Given the description of an element on the screen output the (x, y) to click on. 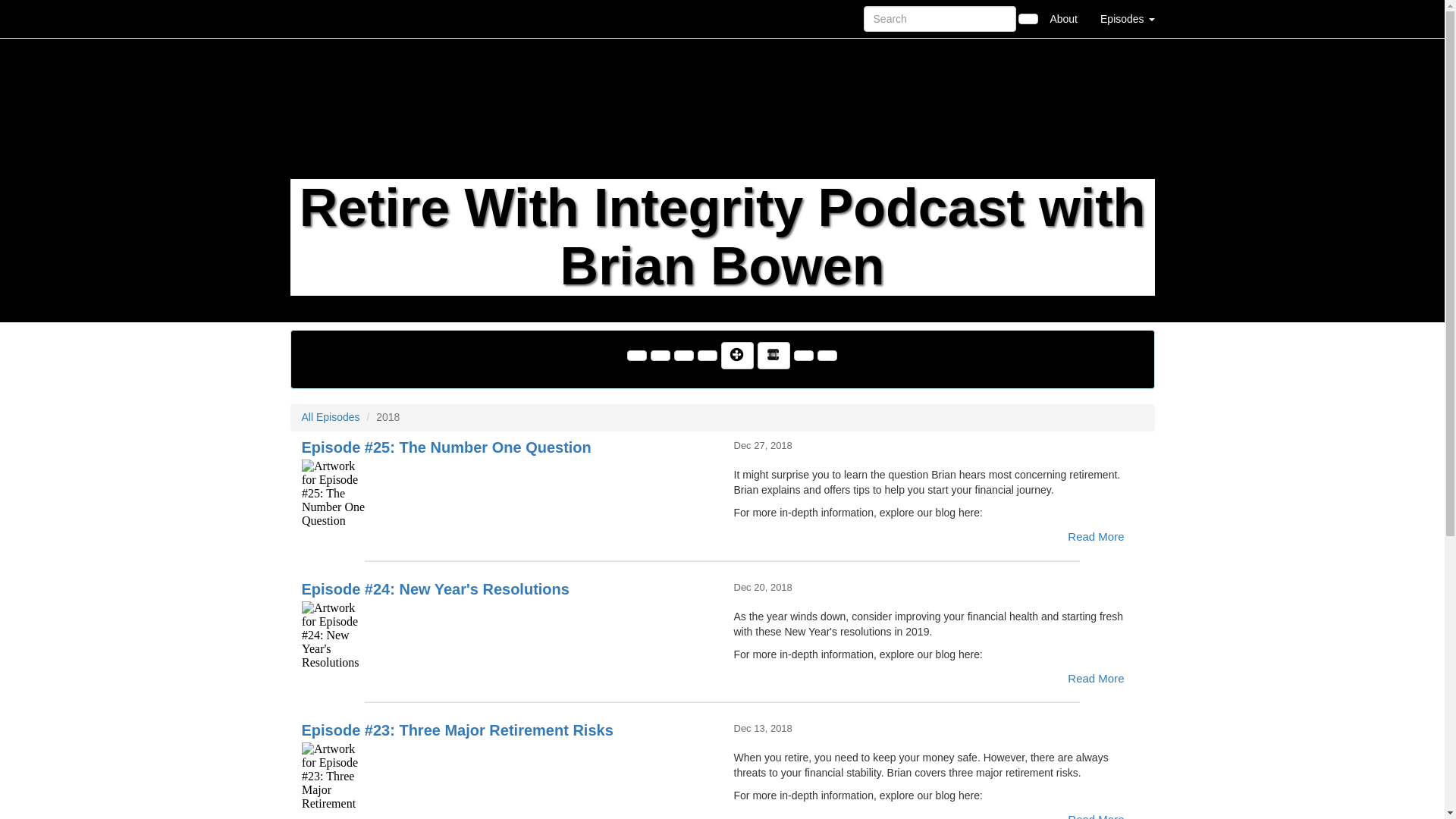
About (1063, 18)
Episodes (1127, 18)
Home Page (320, 18)
